Given the description of an element on the screen output the (x, y) to click on. 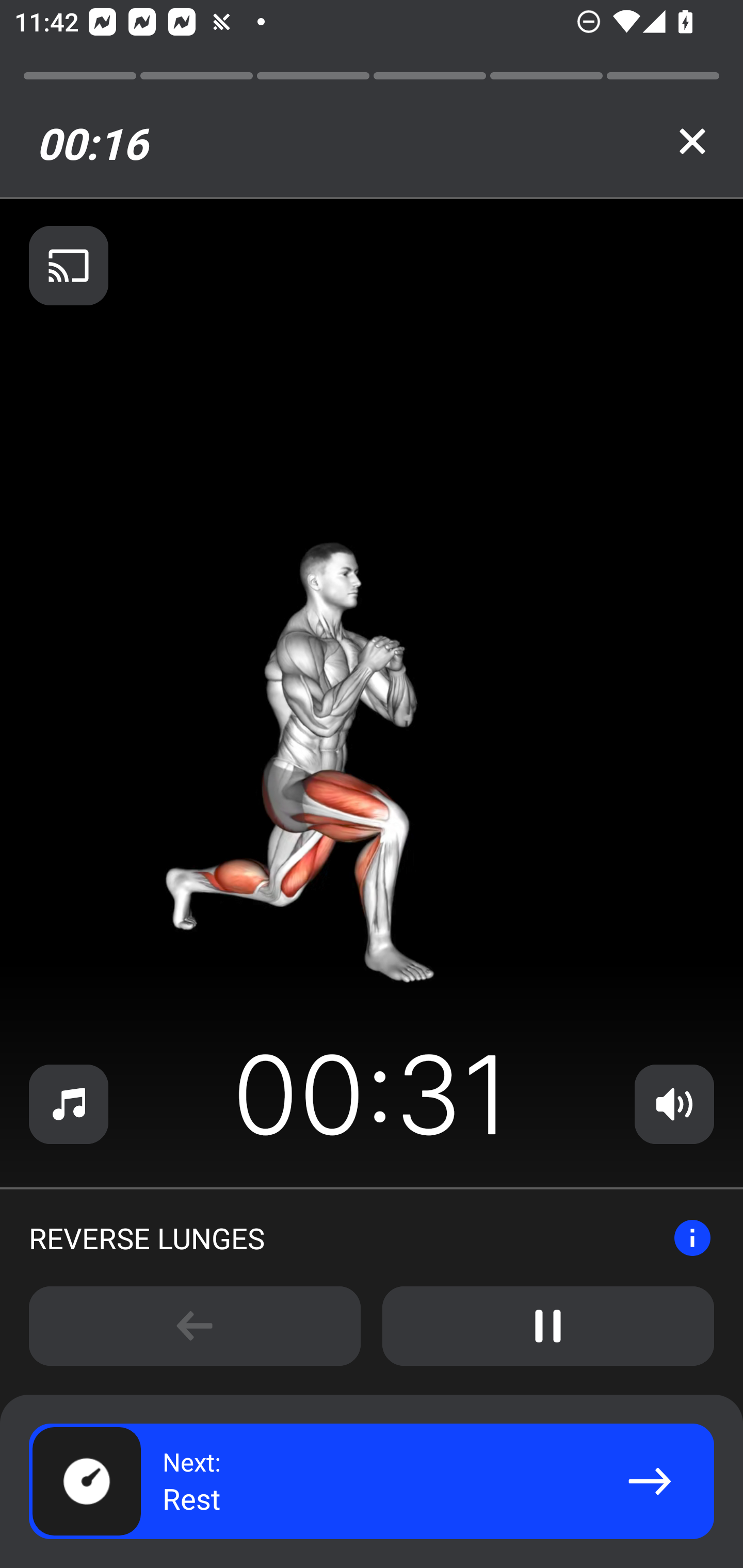
Next: Rest (371, 1481)
